Given the description of an element on the screen output the (x, y) to click on. 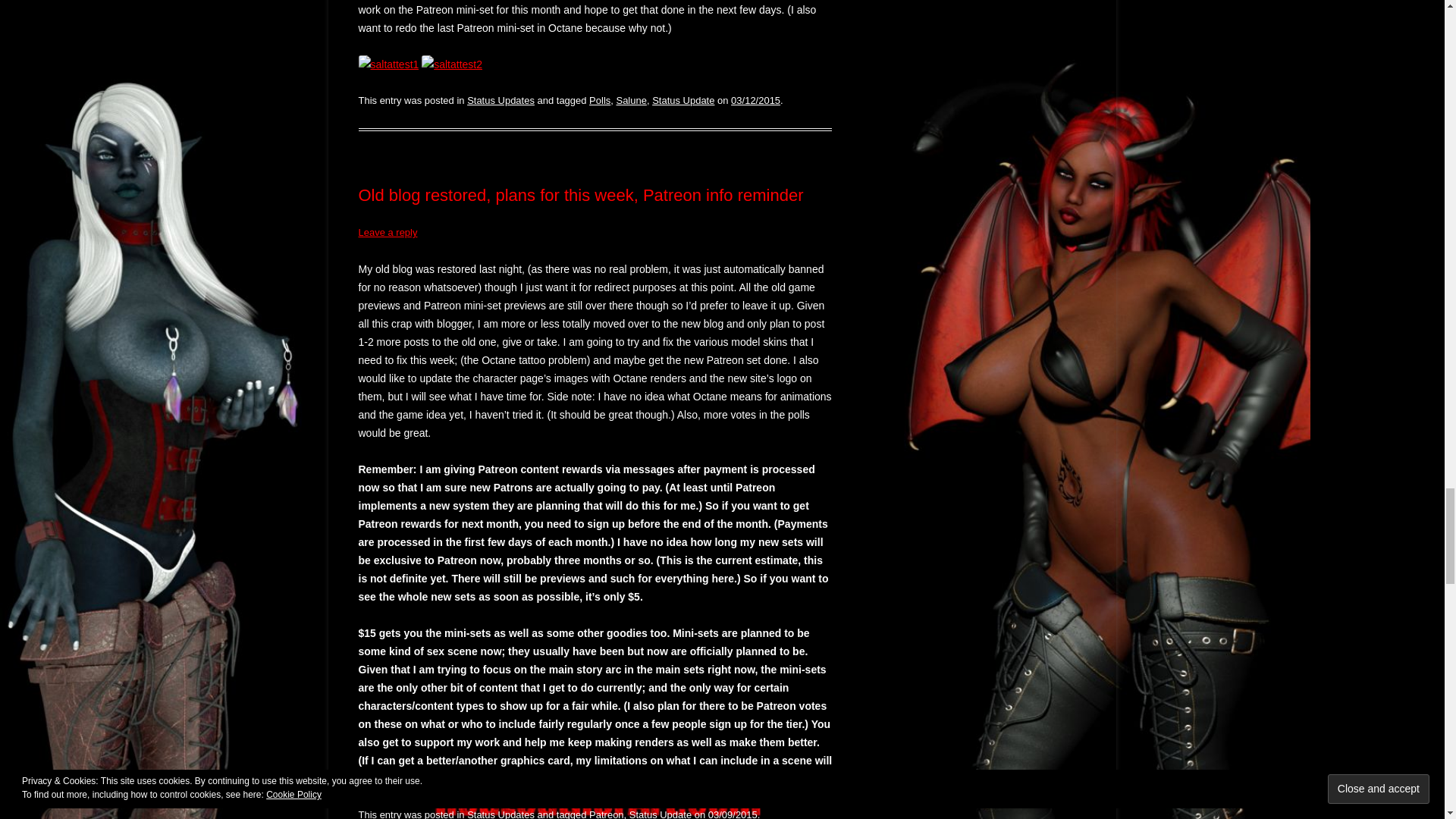
1:27 PM (755, 100)
9:58 AM (732, 814)
